Given the description of an element on the screen output the (x, y) to click on. 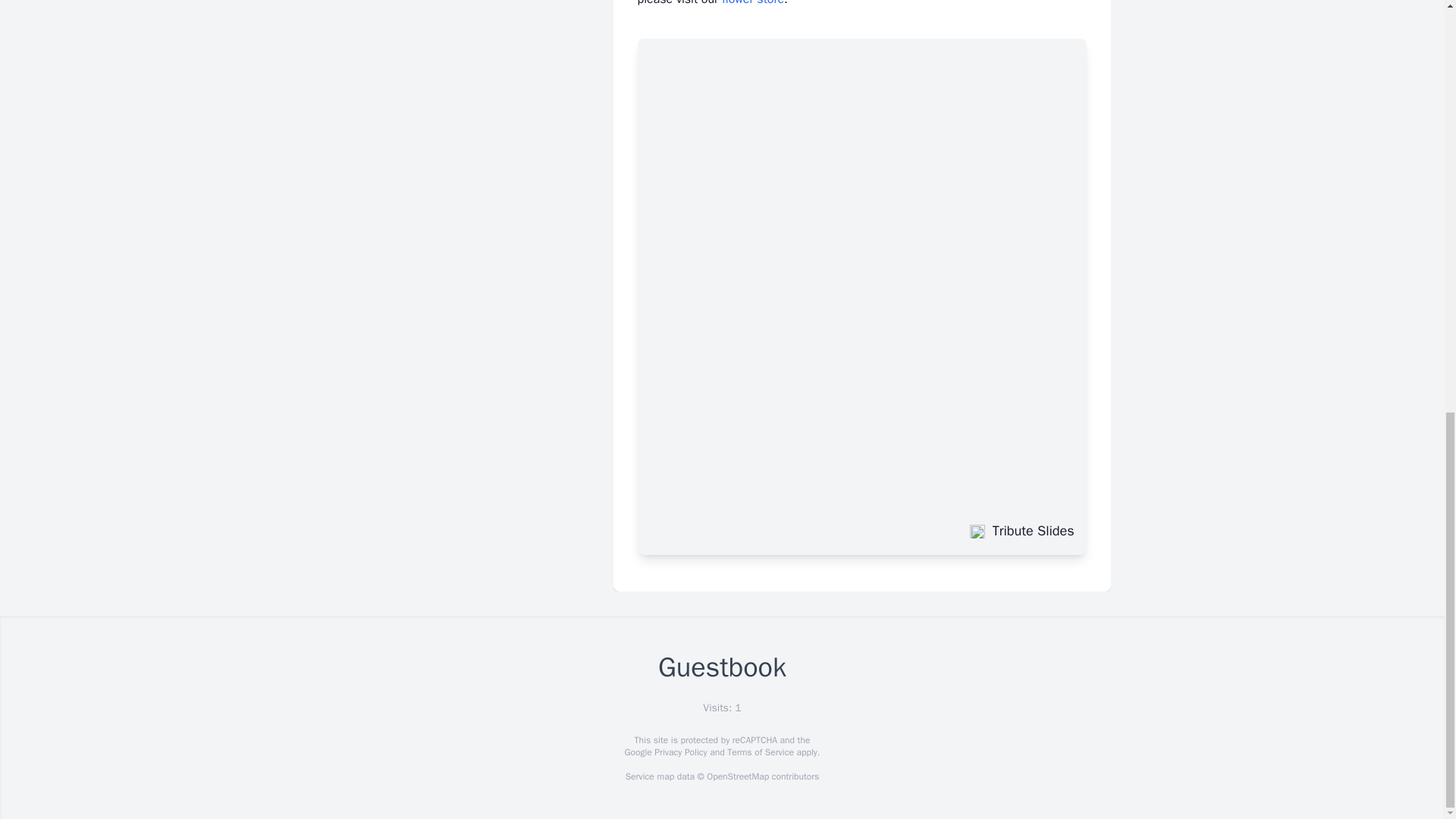
flower store (753, 3)
Terms of Service (759, 752)
OpenStreetMap (737, 776)
Privacy Policy (679, 752)
